Given the description of an element on the screen output the (x, y) to click on. 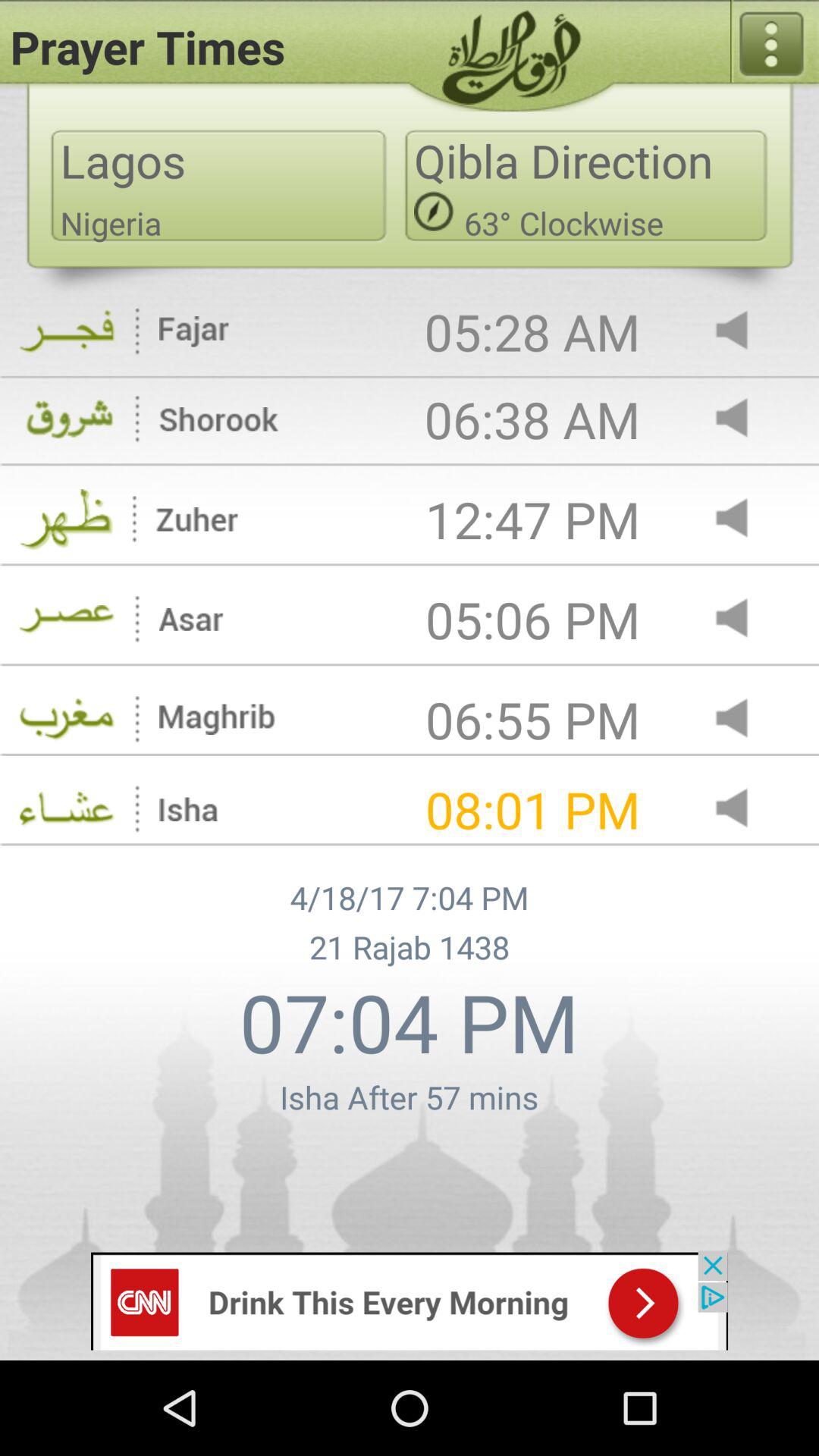
advertisement banner (409, 1300)
